Given the description of an element on the screen output the (x, y) to click on. 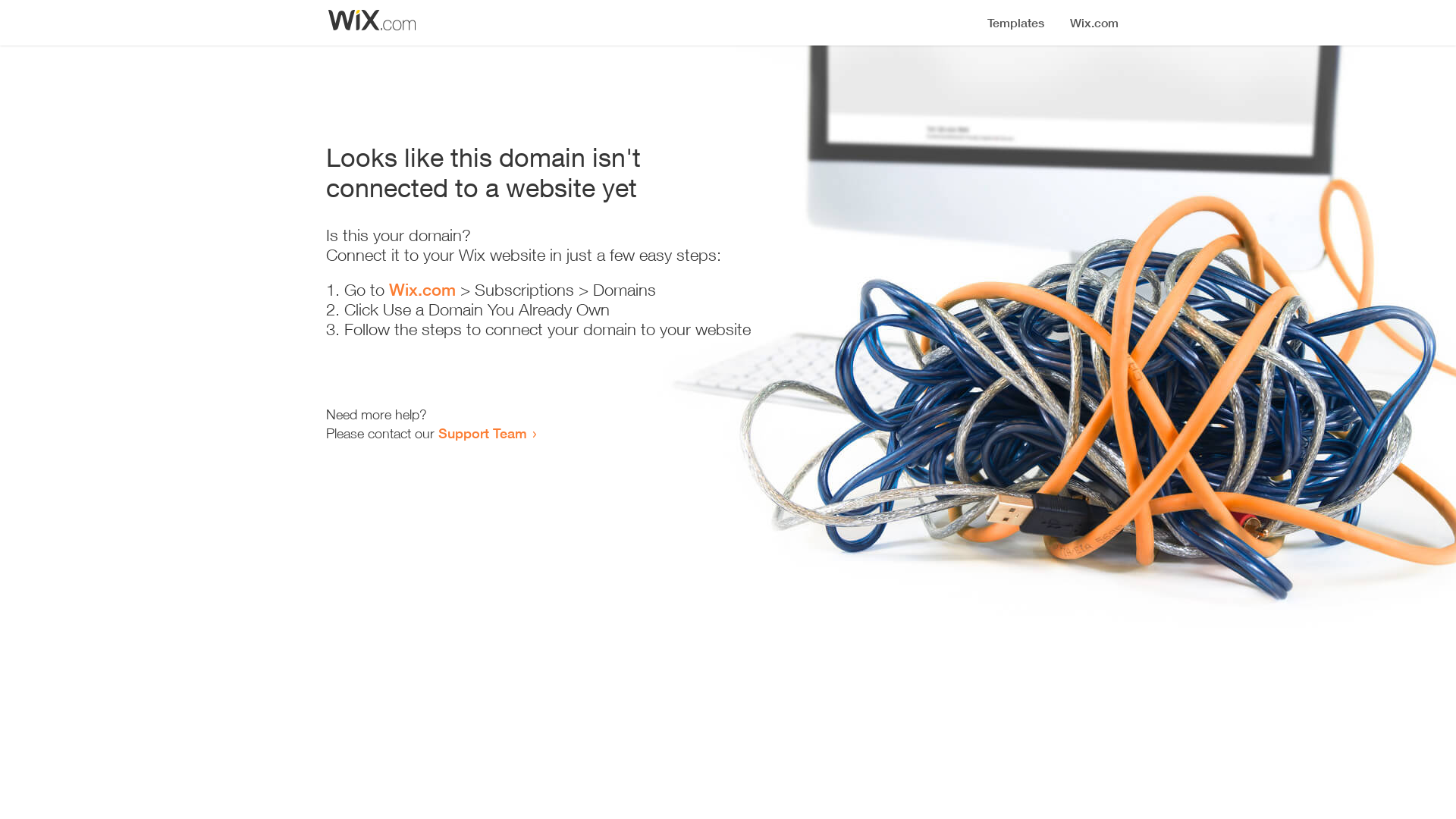
Support Team Element type: text (482, 432)
Wix.com Element type: text (422, 289)
